Given the description of an element on the screen output the (x, y) to click on. 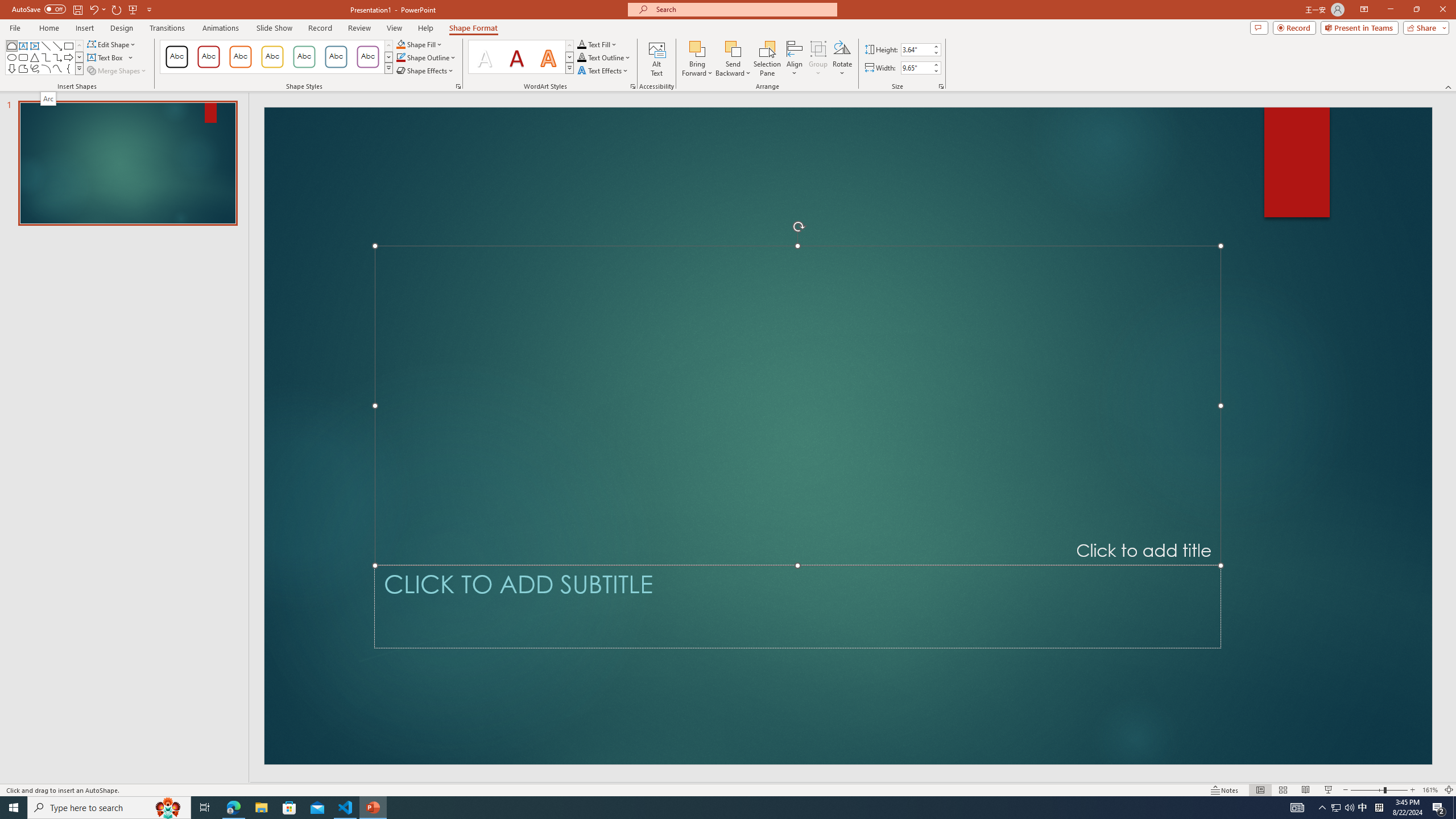
Text Fill (596, 44)
Bring Forward (697, 48)
Selection Pane... (767, 58)
Text Outline (604, 56)
Send Backward (733, 58)
